Given the description of an element on the screen output the (x, y) to click on. 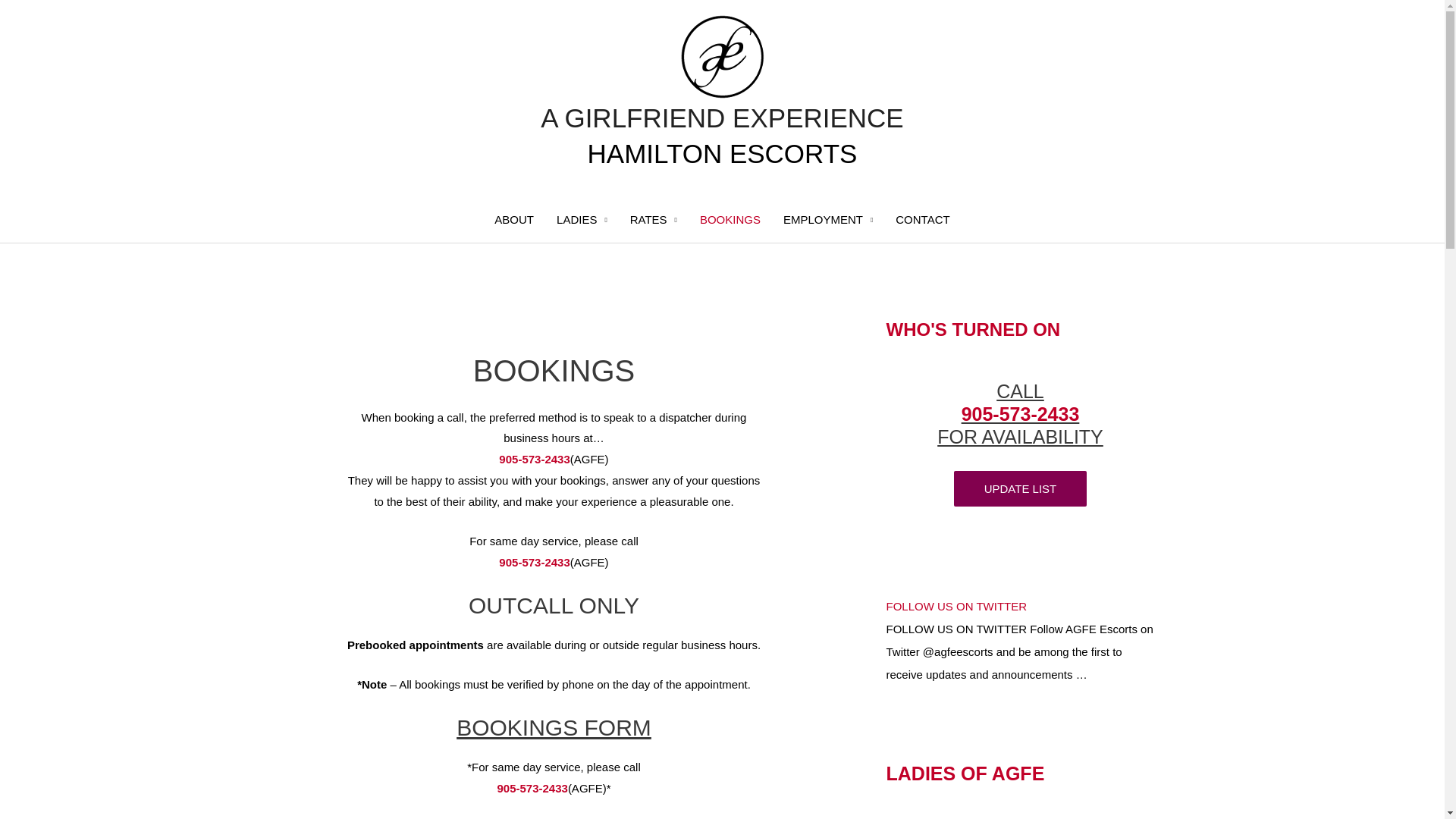
LADIES OF AGFE Element type: text (964, 773)
905-573-2433 Element type: text (1020, 413)
BOOKINGS Element type: text (729, 219)
LADIES Element type: text (581, 219)
905-573-2433 Element type: text (533, 458)
905-573-2433 Element type: text (531, 787)
FOLLOW US ON TWITTER Element type: text (955, 605)
905-573-2433 Element type: text (533, 561)
CONTACT Element type: text (922, 219)
EMPLOYMENT Element type: text (827, 219)
UPDATE LIST Element type: text (1020, 488)
A GIRLFRIEND EXPERIENCE Element type: text (721, 117)
WHO'S TURNED ON Element type: text (972, 328)
RATES Element type: text (653, 219)
ABOUT Element type: text (514, 219)
